Given the description of an element on the screen output the (x, y) to click on. 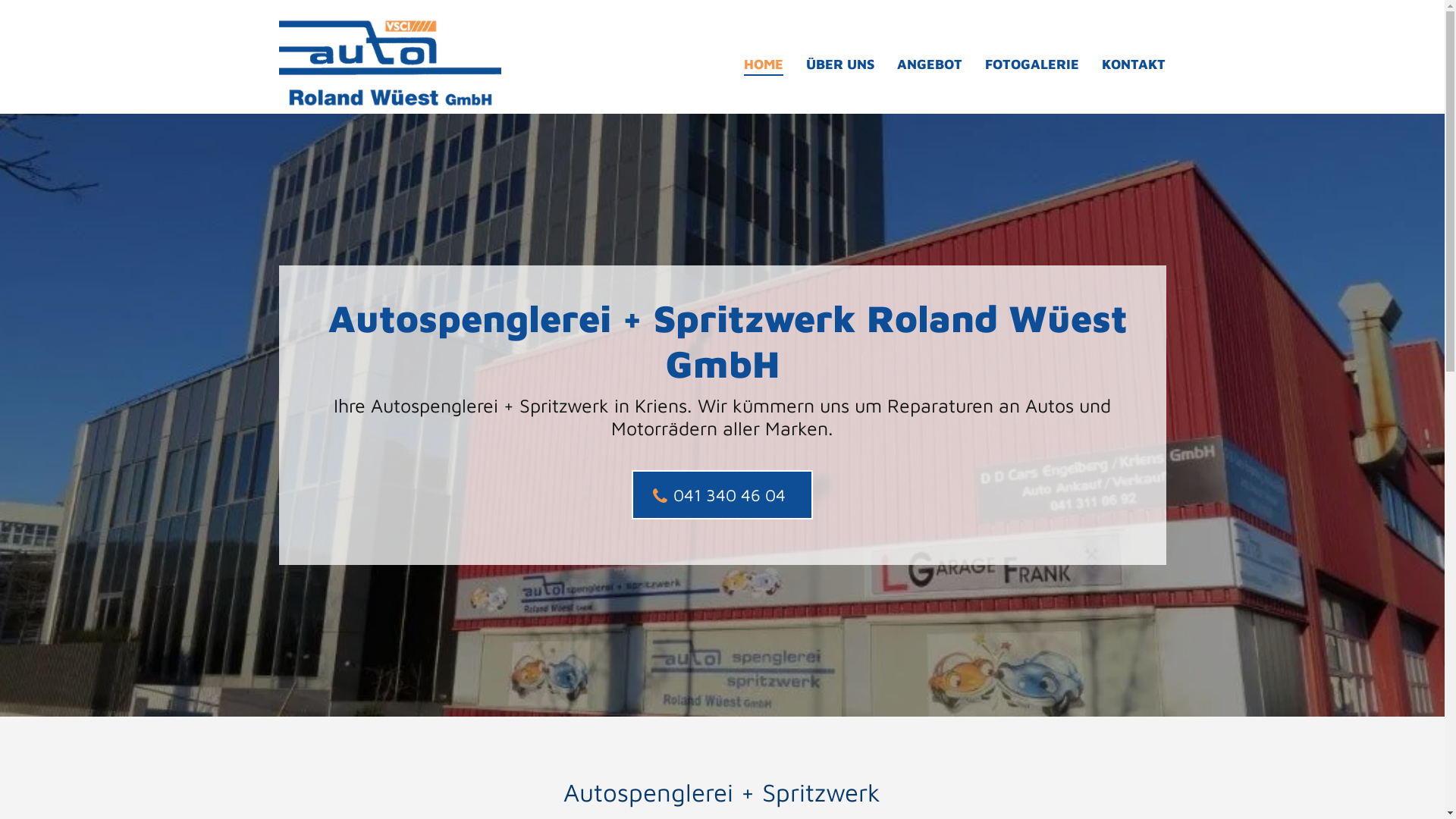
ANGEBOT Element type: text (929, 60)
HOME Element type: text (763, 60)
KONTAKT Element type: text (1133, 60)
041 340 46 04 Element type: text (721, 494)
FOTOGALERIE Element type: text (1032, 60)
